Given the description of an element on the screen output the (x, y) to click on. 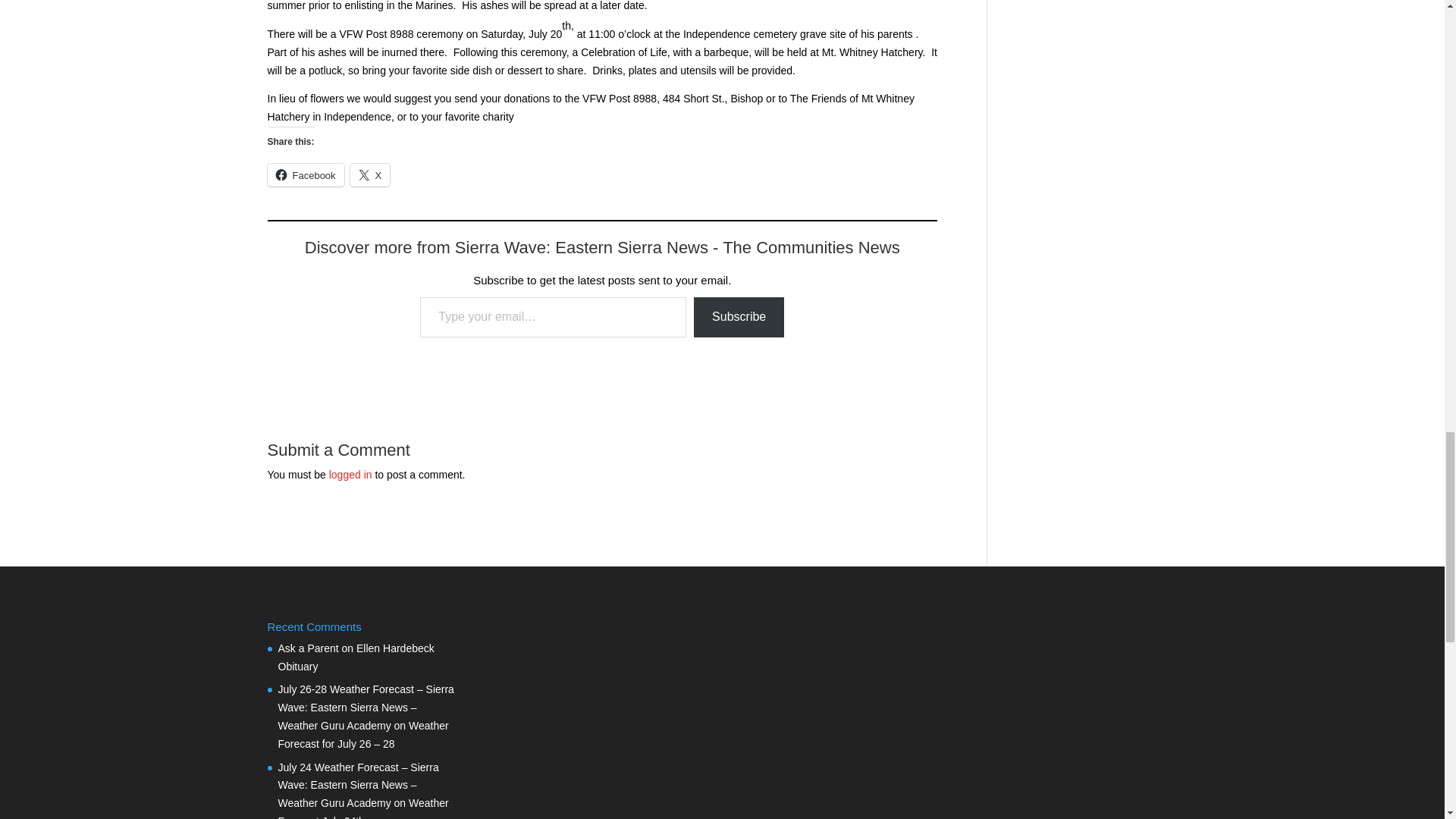
Facebook (304, 174)
Click to share on Facebook (304, 174)
Subscribe (739, 317)
Ellen Hardebeck Obituary (355, 657)
Please fill in this field. (552, 317)
X (370, 174)
Click to share on X (370, 174)
logged in (350, 474)
